Given the description of an element on the screen output the (x, y) to click on. 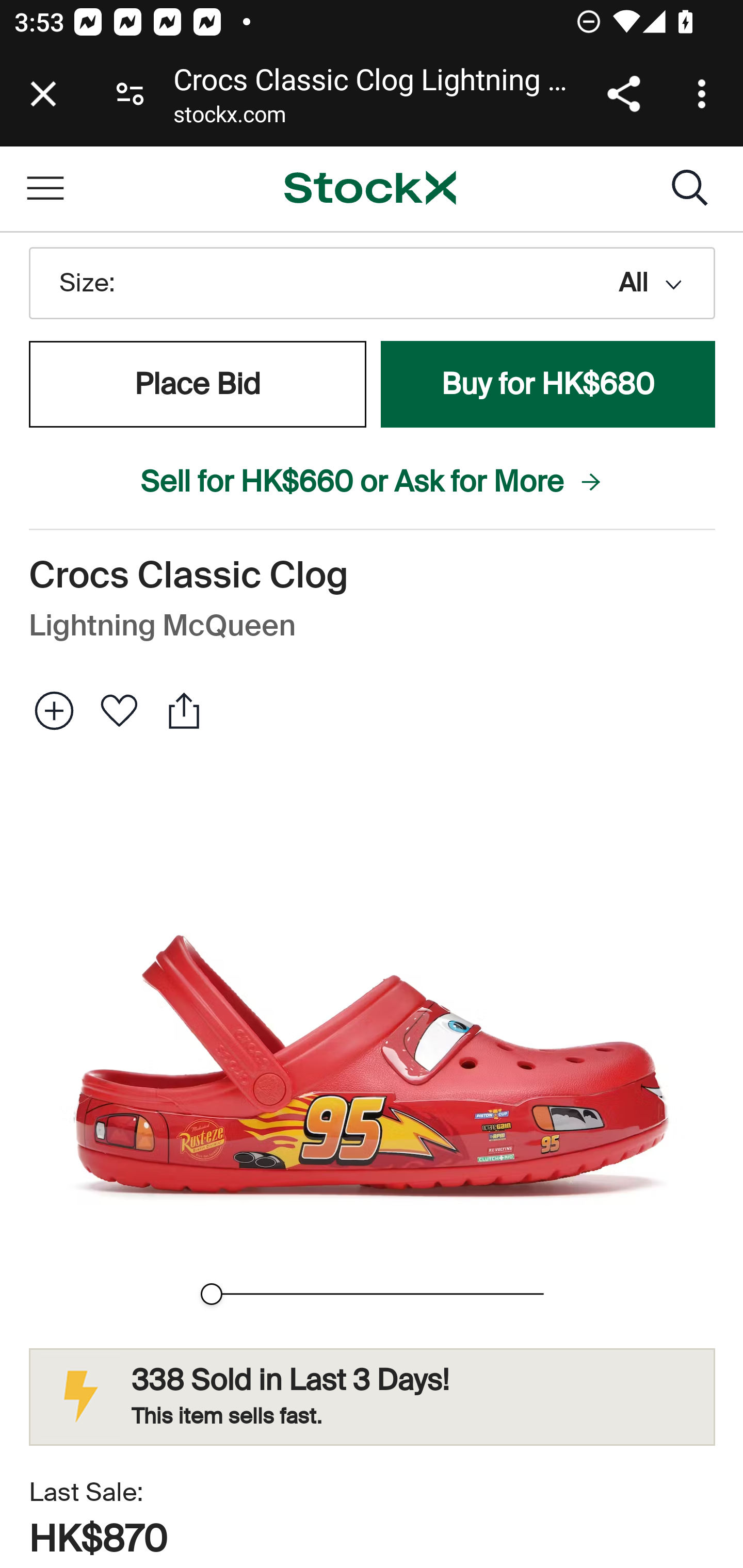
Close tab (43, 93)
Share link address (623, 93)
Customize and control Google Chrome (705, 93)
Connection is secure (129, 93)
stockx.com (229, 117)
